Given the description of an element on the screen output the (x, y) to click on. 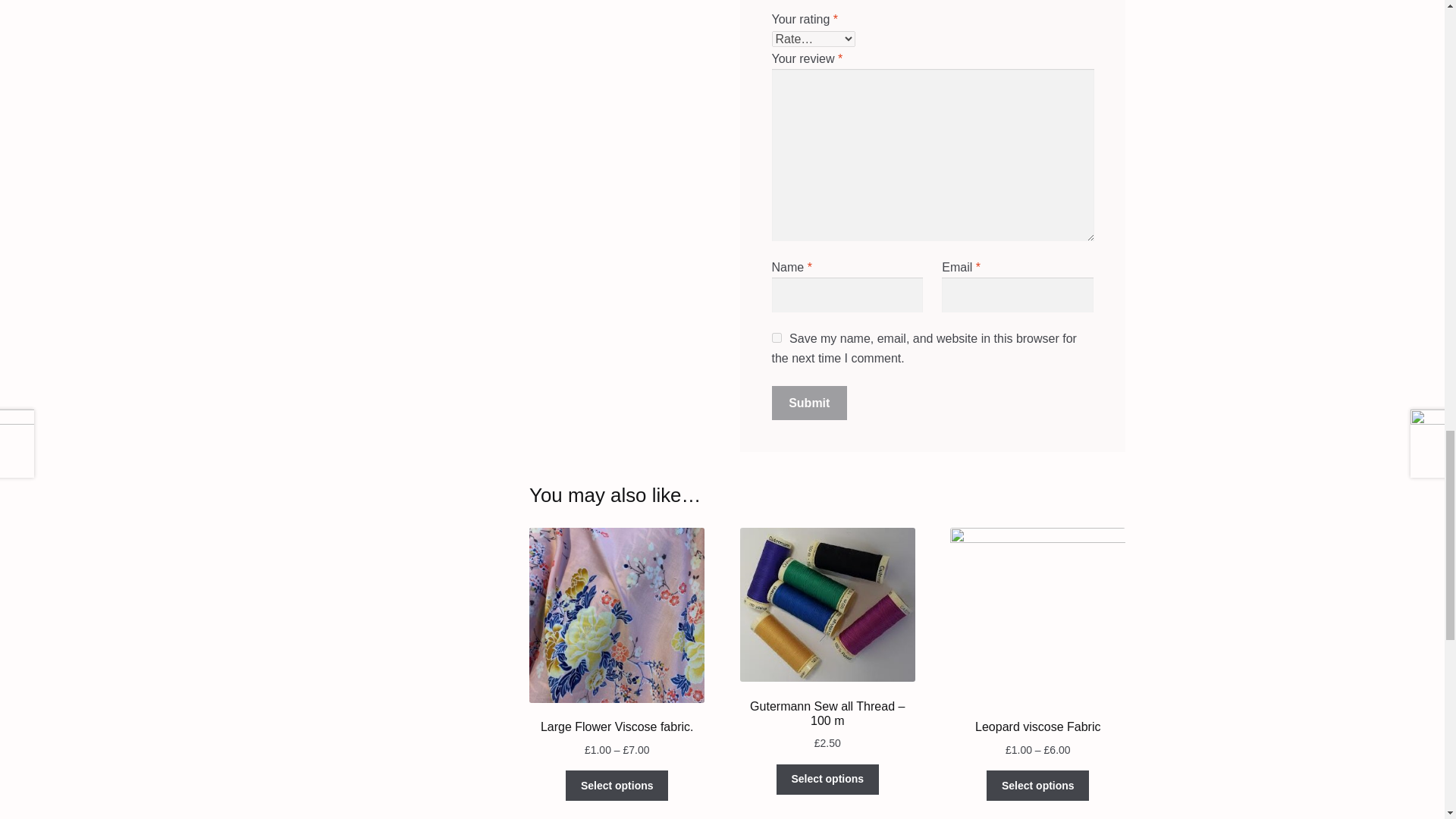
Select options (827, 779)
yes (776, 337)
Select options (1038, 785)
Submit (809, 402)
Select options (617, 785)
Submit (809, 402)
